Given the description of an element on the screen output the (x, y) to click on. 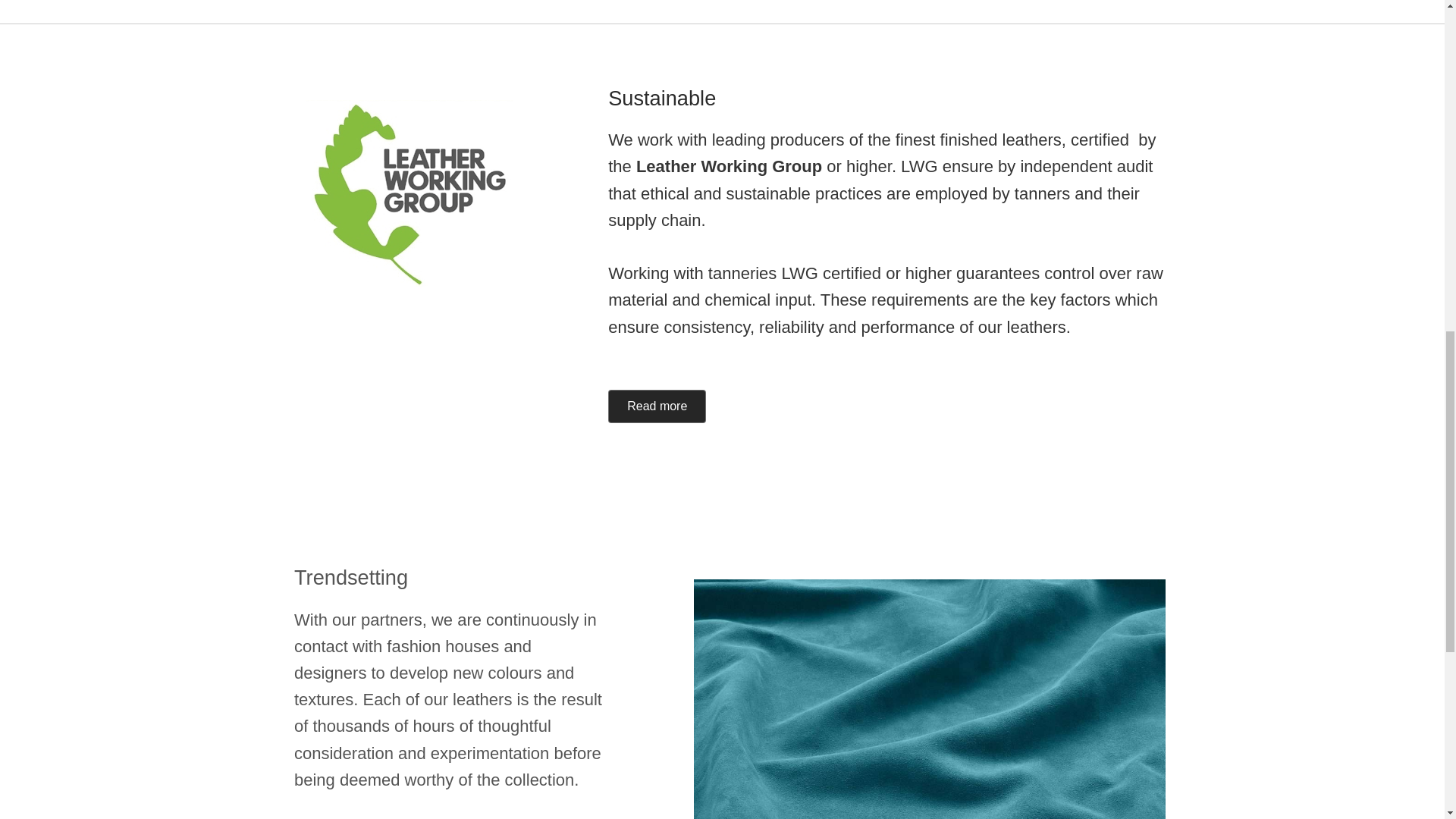
Read more (657, 406)
LWG-logo (409, 194)
Suave (930, 699)
